Given the description of an element on the screen output the (x, y) to click on. 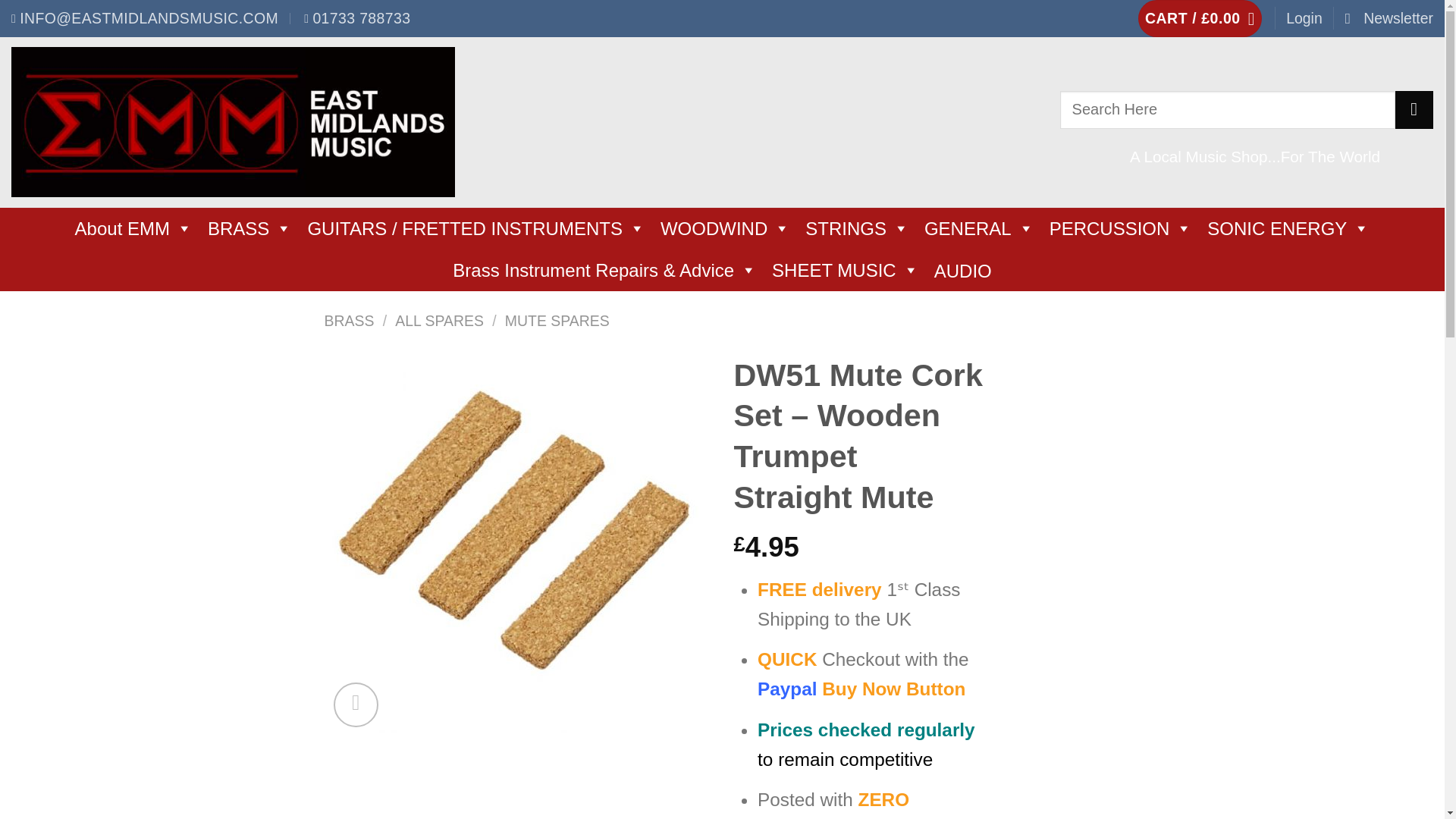
Login (1303, 18)
Sign up for Newsletter (1388, 18)
Zoom (355, 704)
Cart (1200, 18)
Newsletter (1388, 18)
Search (1413, 109)
01733 788733 (357, 18)
01733 788733 (357, 18)
About EMM (133, 228)
